Given the description of an element on the screen output the (x, y) to click on. 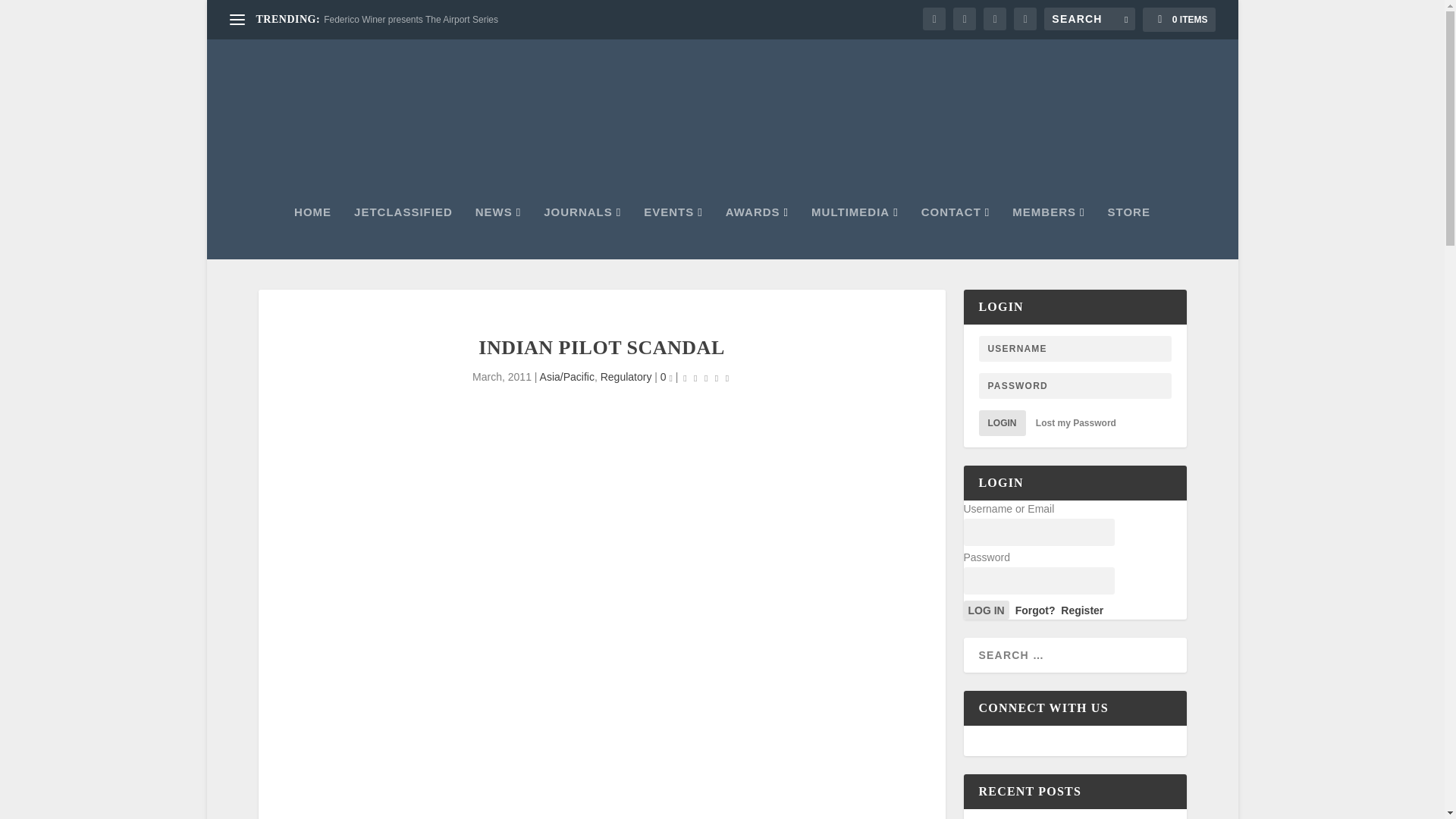
Rating: 0.00 (705, 377)
JETCLASSIFIED (402, 232)
log in (985, 609)
Federico Winer presents The Airport Series (410, 19)
JOURNALS (582, 232)
